Given the description of an element on the screen output the (x, y) to click on. 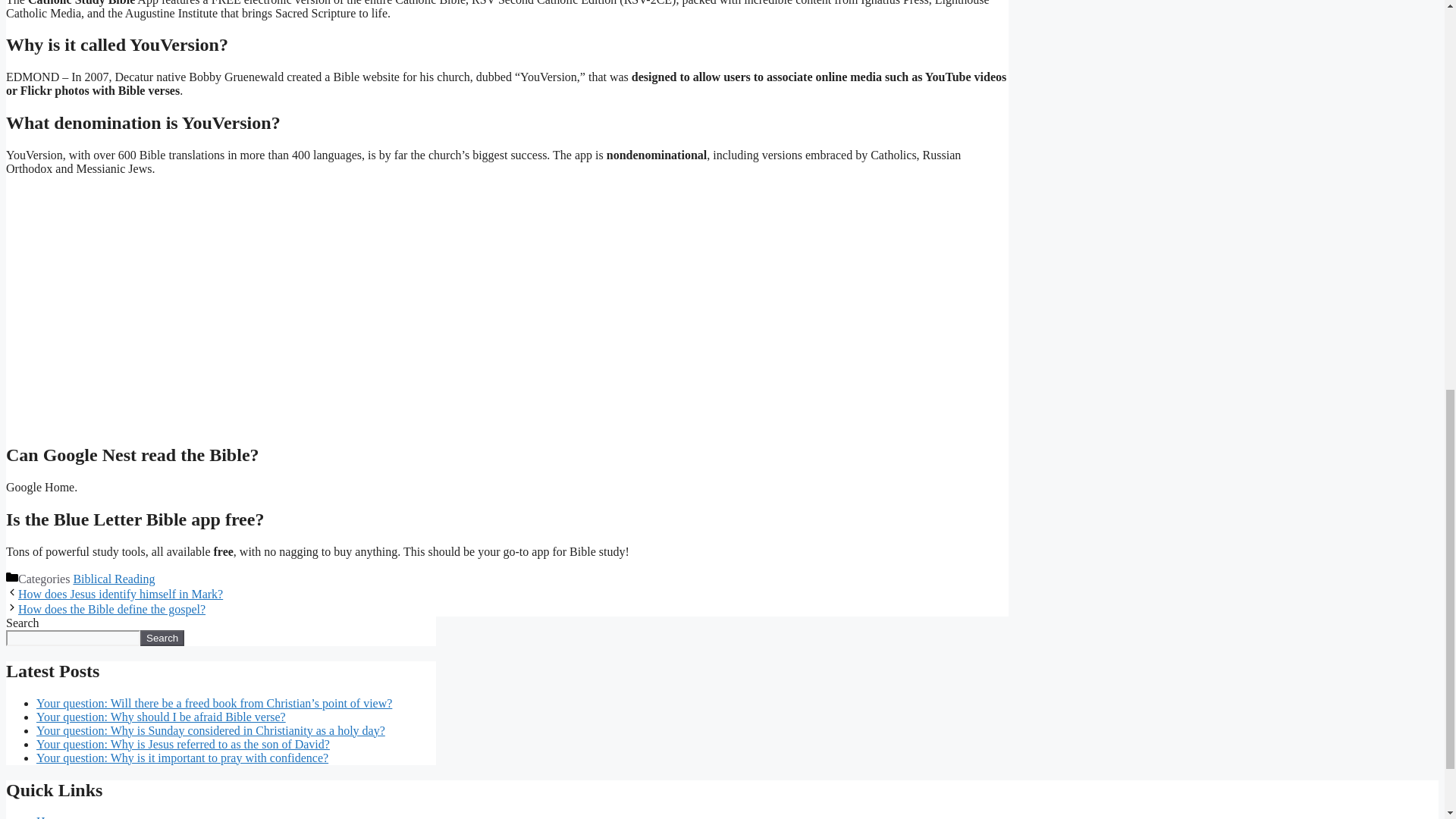
Your question: Why is it important to pray with confidence? (182, 757)
How does Jesus identify himself in Mark? (119, 594)
Search (161, 637)
Biblical Reading (113, 578)
Your question: Why is Jesus referred to as the son of David? (183, 744)
Scroll back to top (1406, 720)
Your question: Why should I be afraid Bible verse? (160, 716)
How does the Bible define the gospel? (111, 608)
Home (50, 816)
